Given the description of an element on the screen output the (x, y) to click on. 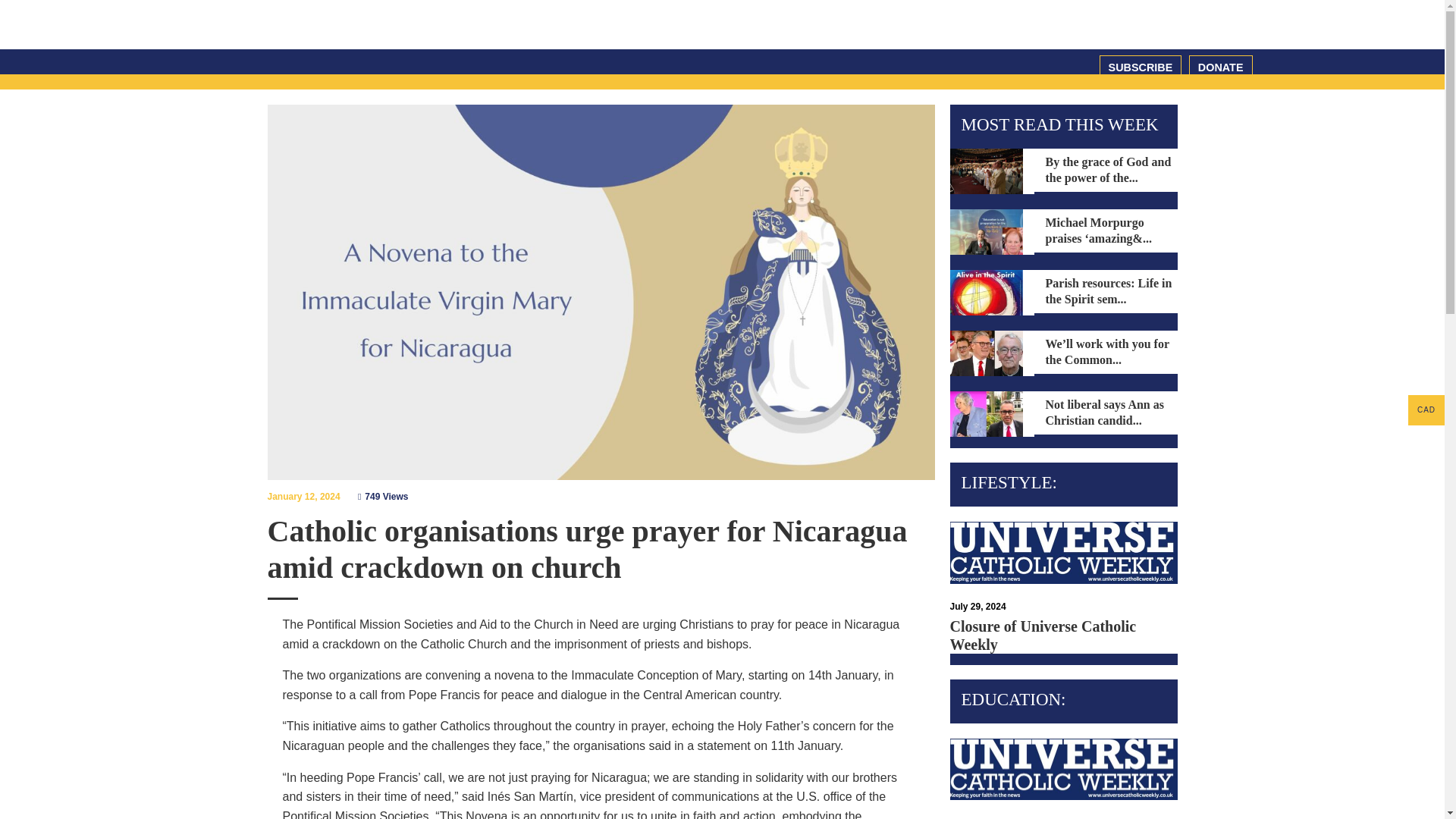
Closure of Universe Catholic Weekly (1062, 544)
Not liberal says Ann as Christian candidate axed (985, 413)
SUBSCRIBE (1140, 67)
DONATE (1220, 67)
Closure of Universe Catholic Weekly (1062, 761)
